Given the description of an element on the screen output the (x, y) to click on. 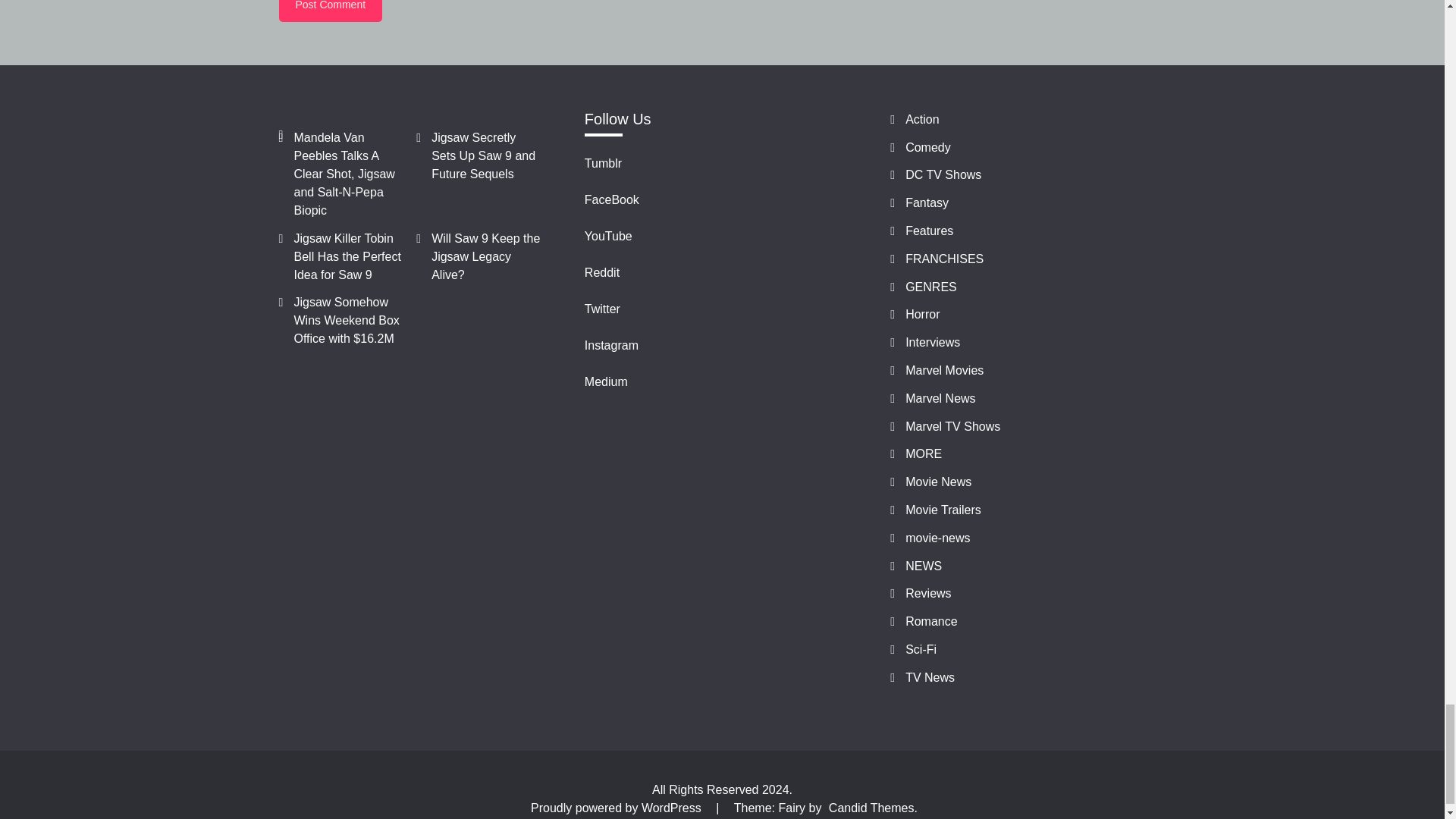
Post Comment (330, 11)
